Given the description of an element on the screen output the (x, y) to click on. 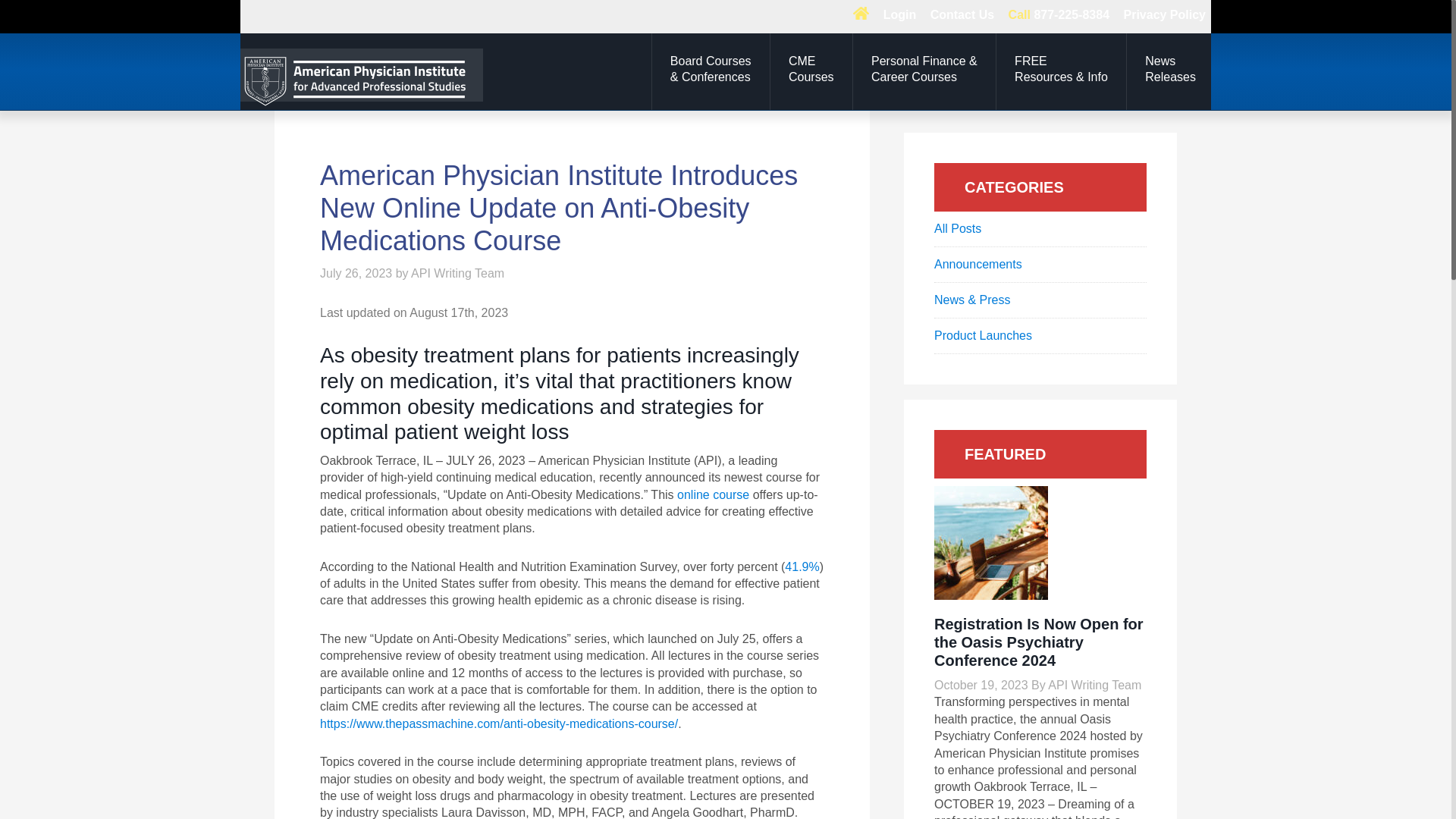
Call 877-225-8384 (1169, 69)
Contact Us (1059, 15)
Privacy Policy (961, 15)
API Writing Team (810, 69)
Login (1164, 15)
American Physician Institute (456, 273)
online course (899, 15)
